Given the description of an element on the screen output the (x, y) to click on. 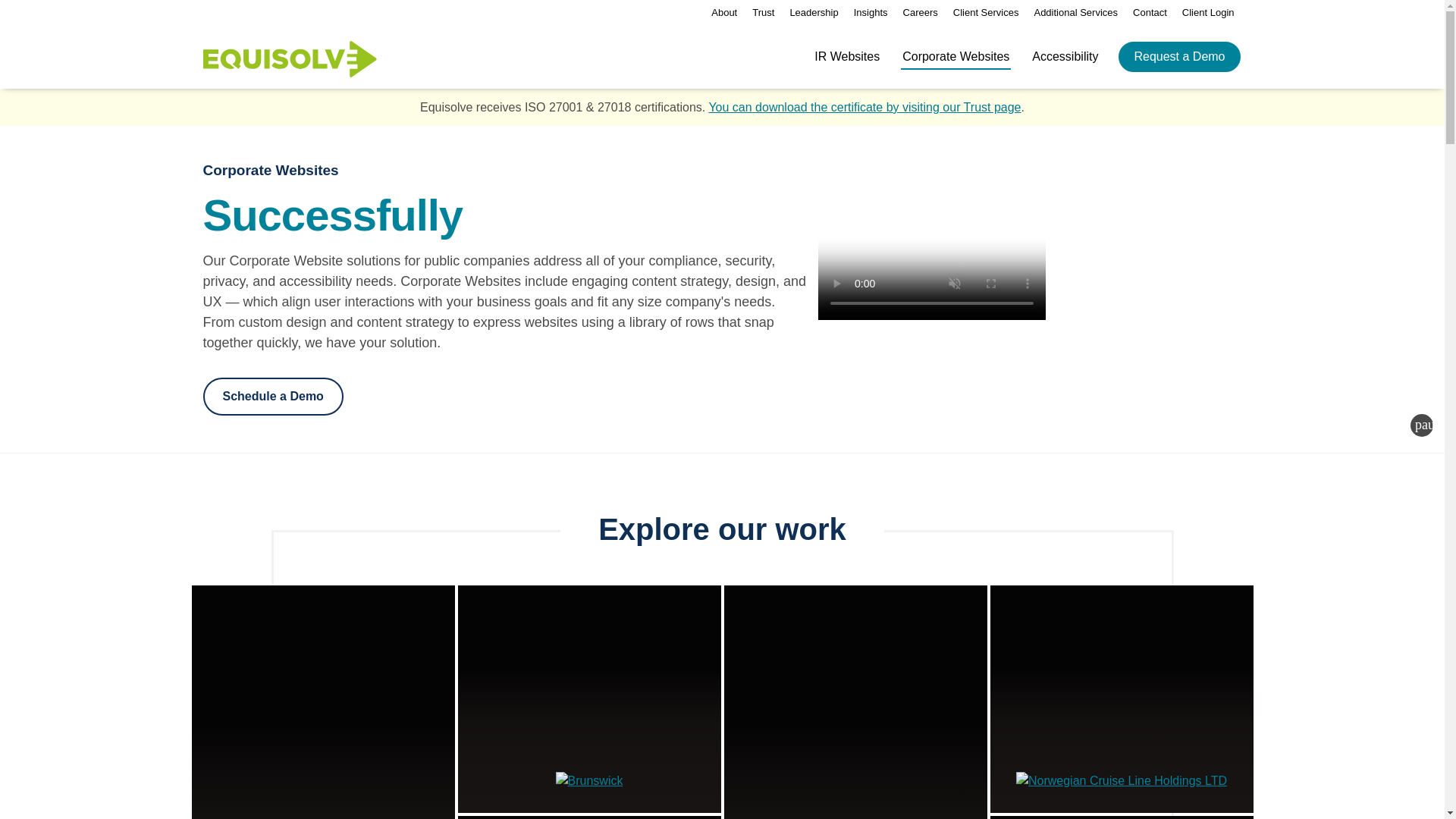
Schedule a Demo (273, 396)
Request a Demo (1178, 56)
Careers (919, 12)
Accessibility (1064, 67)
Trust (763, 12)
Corporate Websites (955, 67)
Leadership (813, 12)
Contact (1149, 12)
Client Services (986, 12)
About (723, 12)
